Given the description of an element on the screen output the (x, y) to click on. 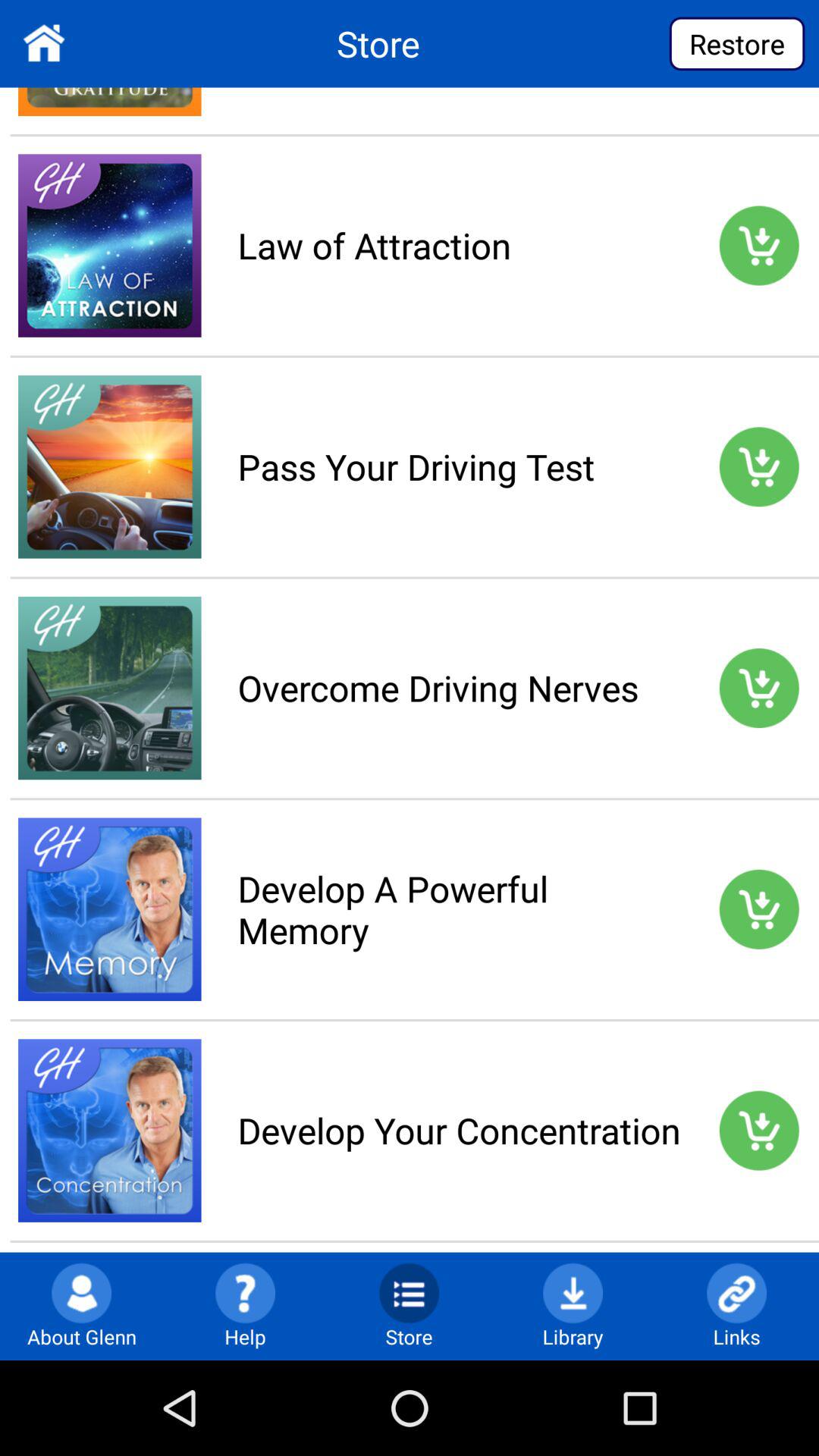
click on the store image option (408, 1292)
click library option beside links icon (572, 1292)
select the image beside develop your concentration on the page (109, 1130)
